Given the description of an element on the screen output the (x, y) to click on. 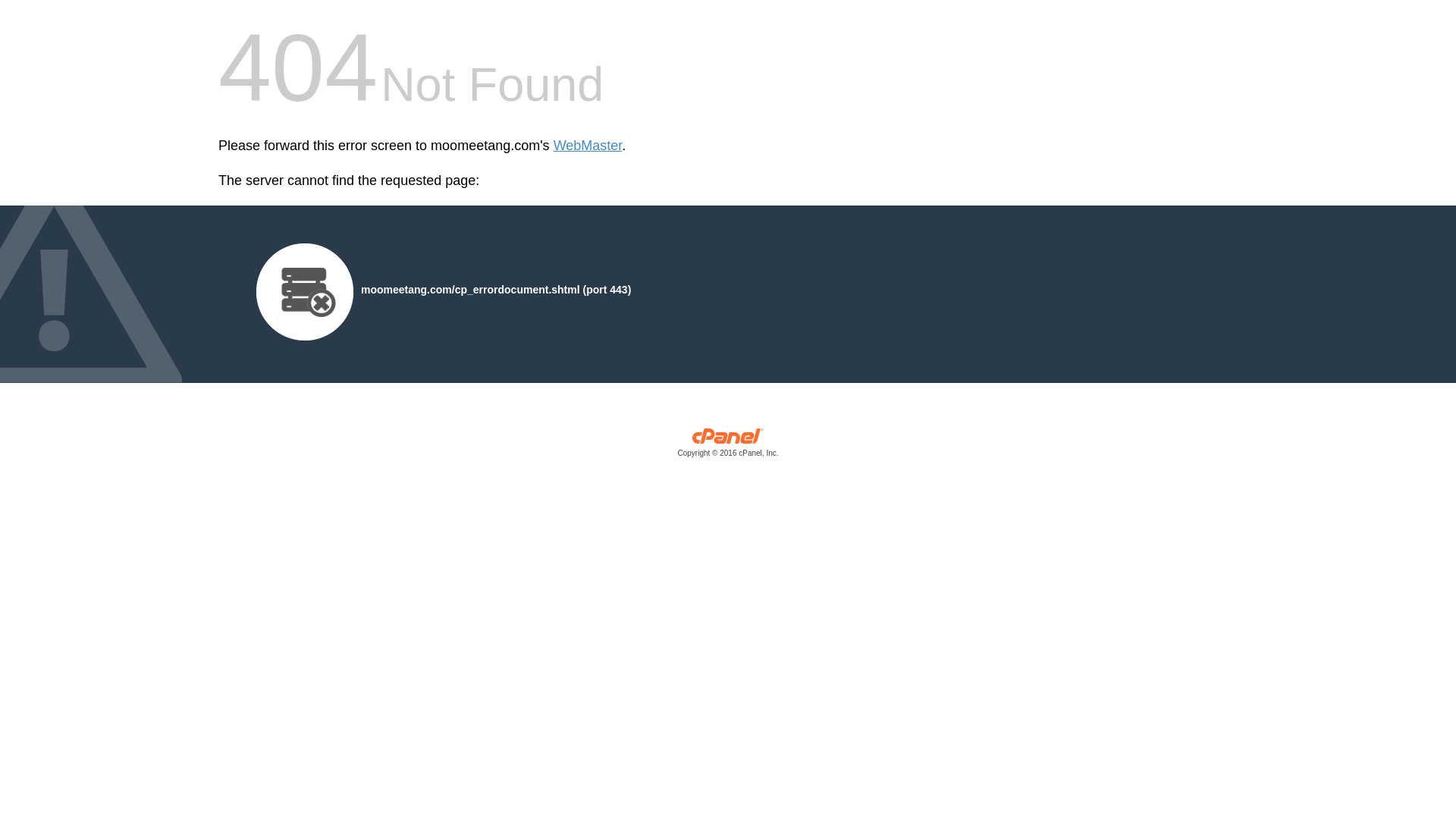
WebMaster (588, 145)
cPanel, Inc. (727, 446)
